Given the description of an element on the screen output the (x, y) to click on. 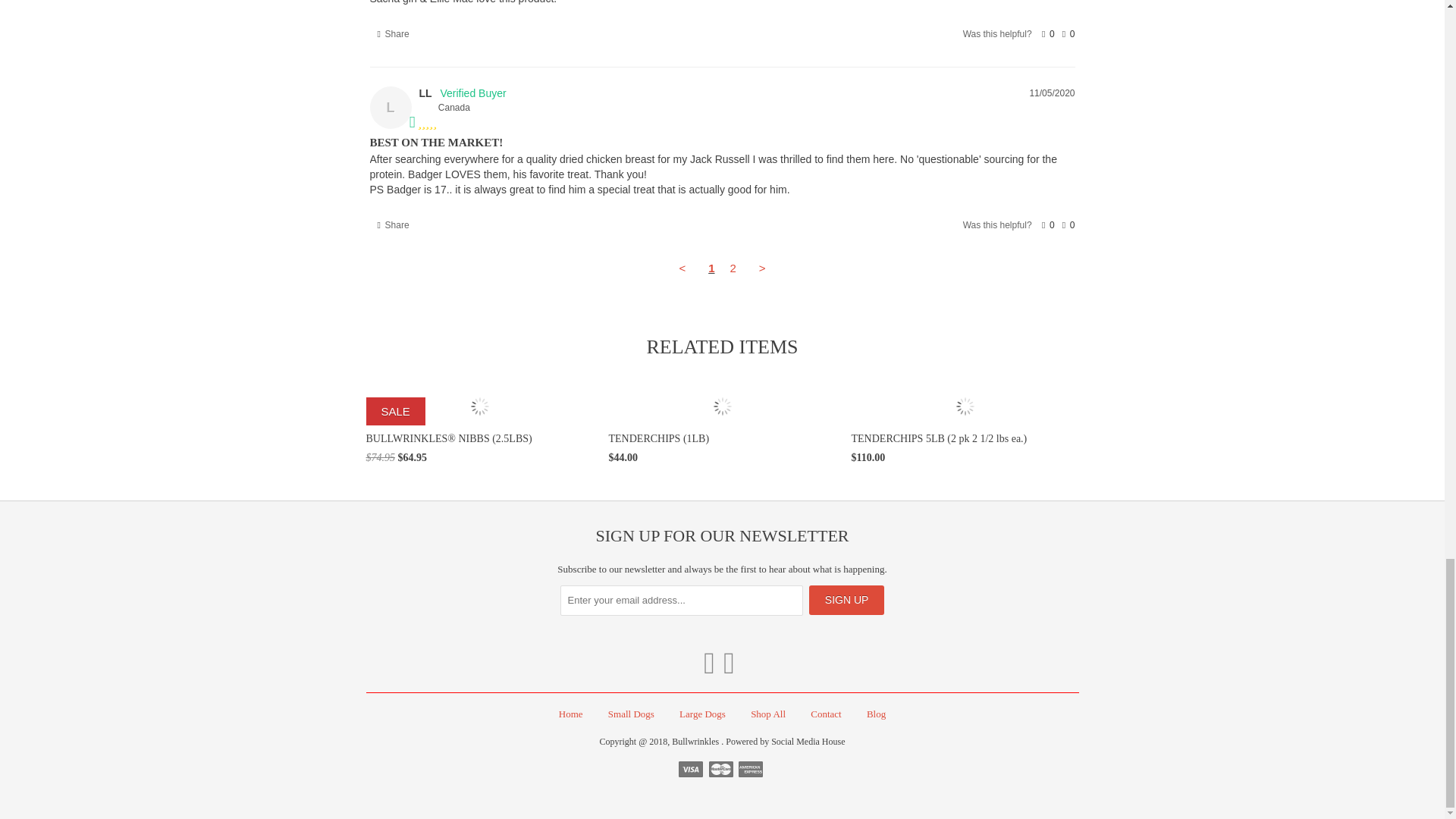
Sign Up (847, 600)
